Given the description of an element on the screen output the (x, y) to click on. 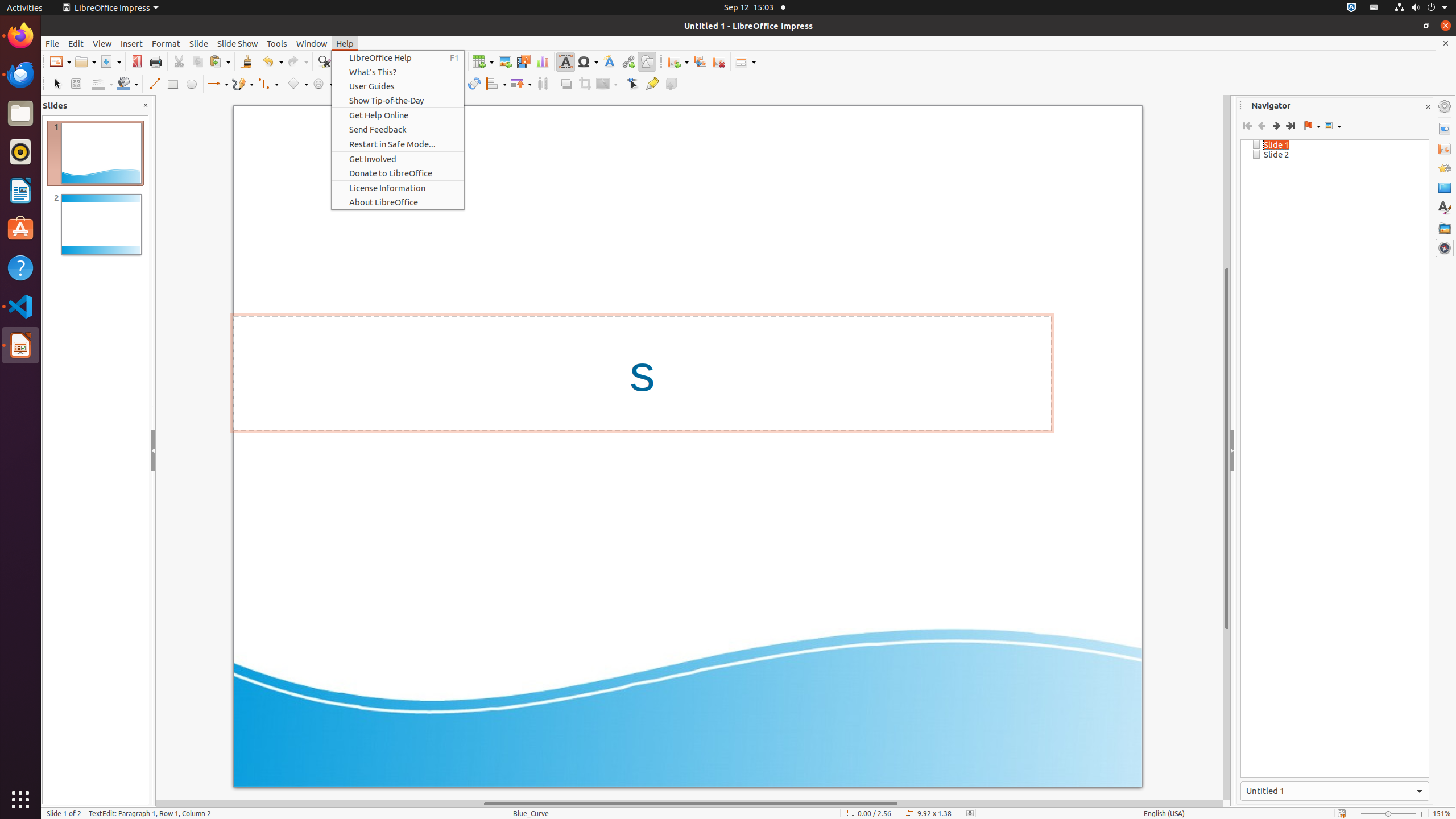
Drag Mode Element type: push-button (1311, 125)
Active Window Element type: combo-box (1334, 790)
Get Involved Element type: menu-item (397, 158)
